Given the description of an element on the screen output the (x, y) to click on. 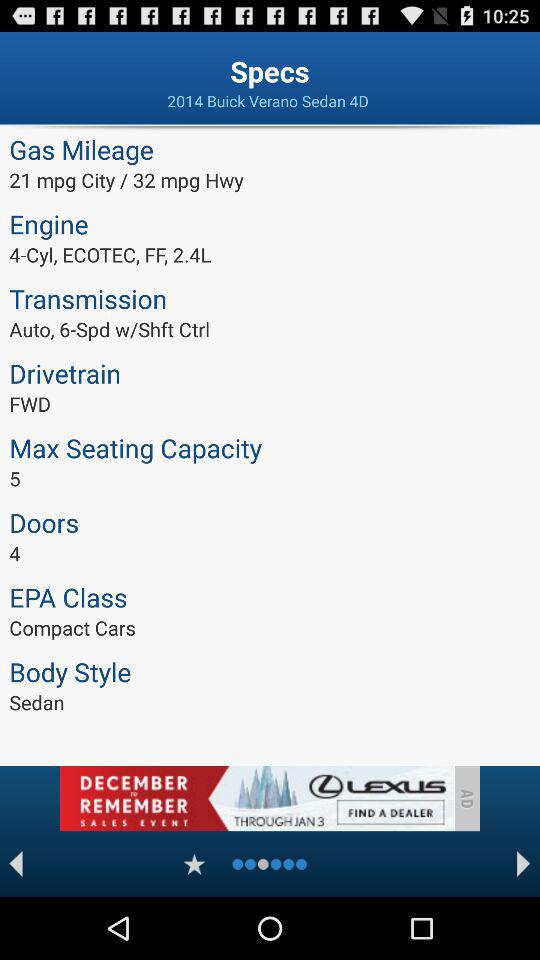
starre (194, 864)
